Given the description of an element on the screen output the (x, y) to click on. 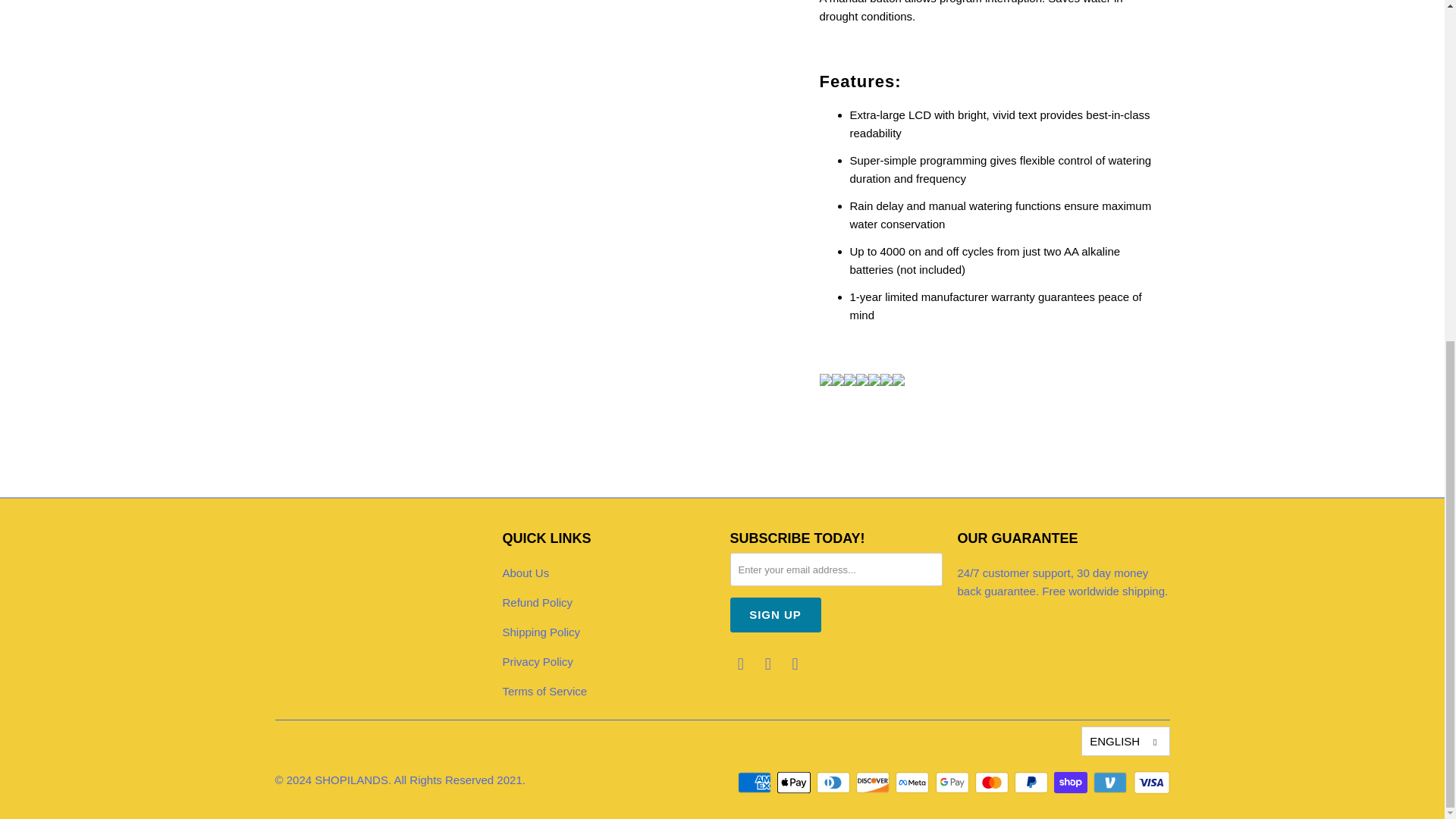
Venmo (1111, 782)
PayPal (1032, 782)
Meta Pay (913, 782)
American Express (756, 782)
Sign Up (775, 614)
SHOPILANDS on Instagram (795, 664)
SHOPILANDS on Twitter (740, 664)
SHOPILANDS on Facebook (767, 664)
Shop Pay (1072, 782)
Discover (874, 782)
Google Pay (954, 782)
Mastercard (993, 782)
Apple Pay (795, 782)
Visa (1150, 782)
Diners Club (834, 782)
